Given the description of an element on the screen output the (x, y) to click on. 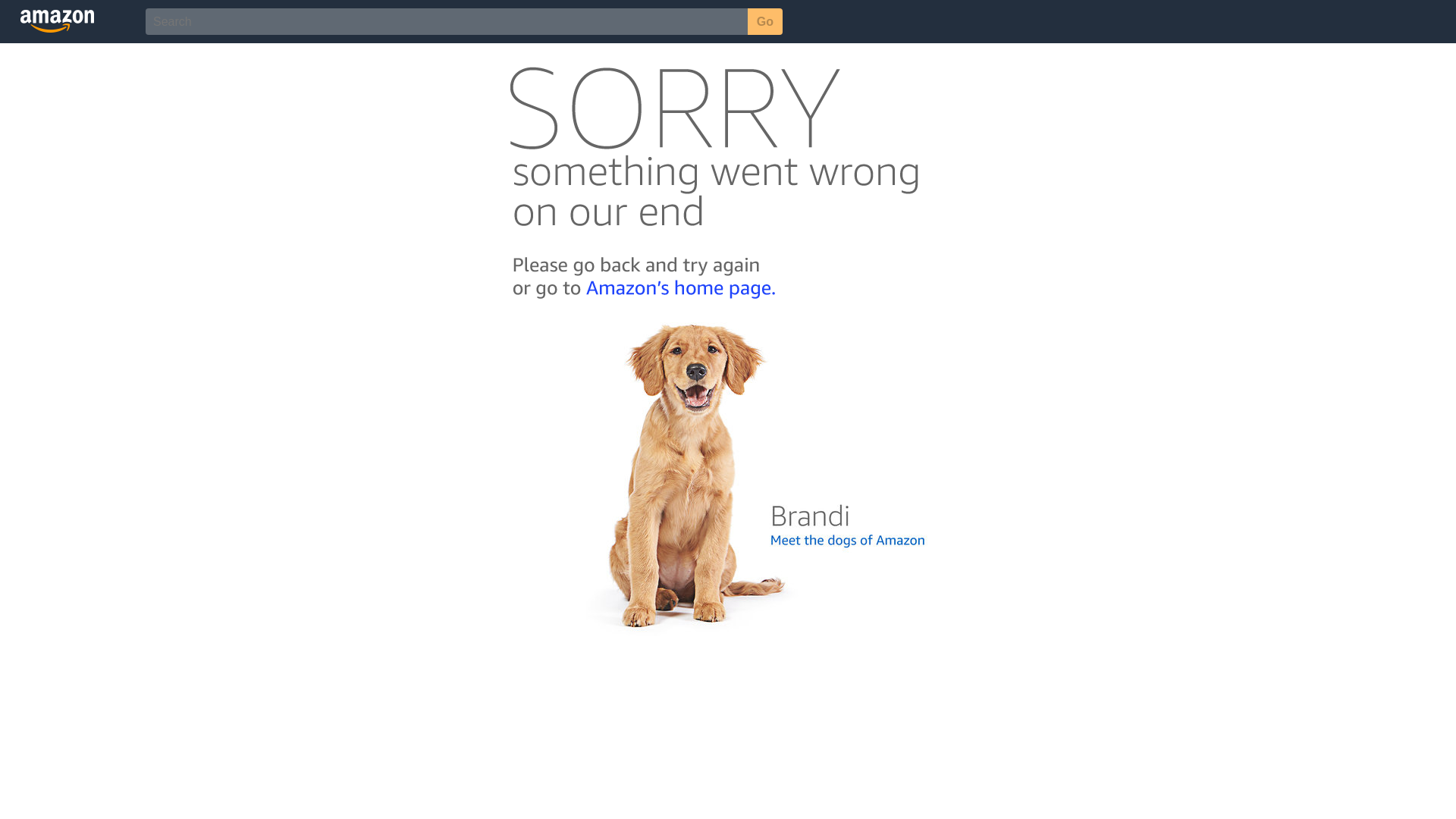
Go (765, 21)
Go (765, 21)
